Given the description of an element on the screen output the (x, y) to click on. 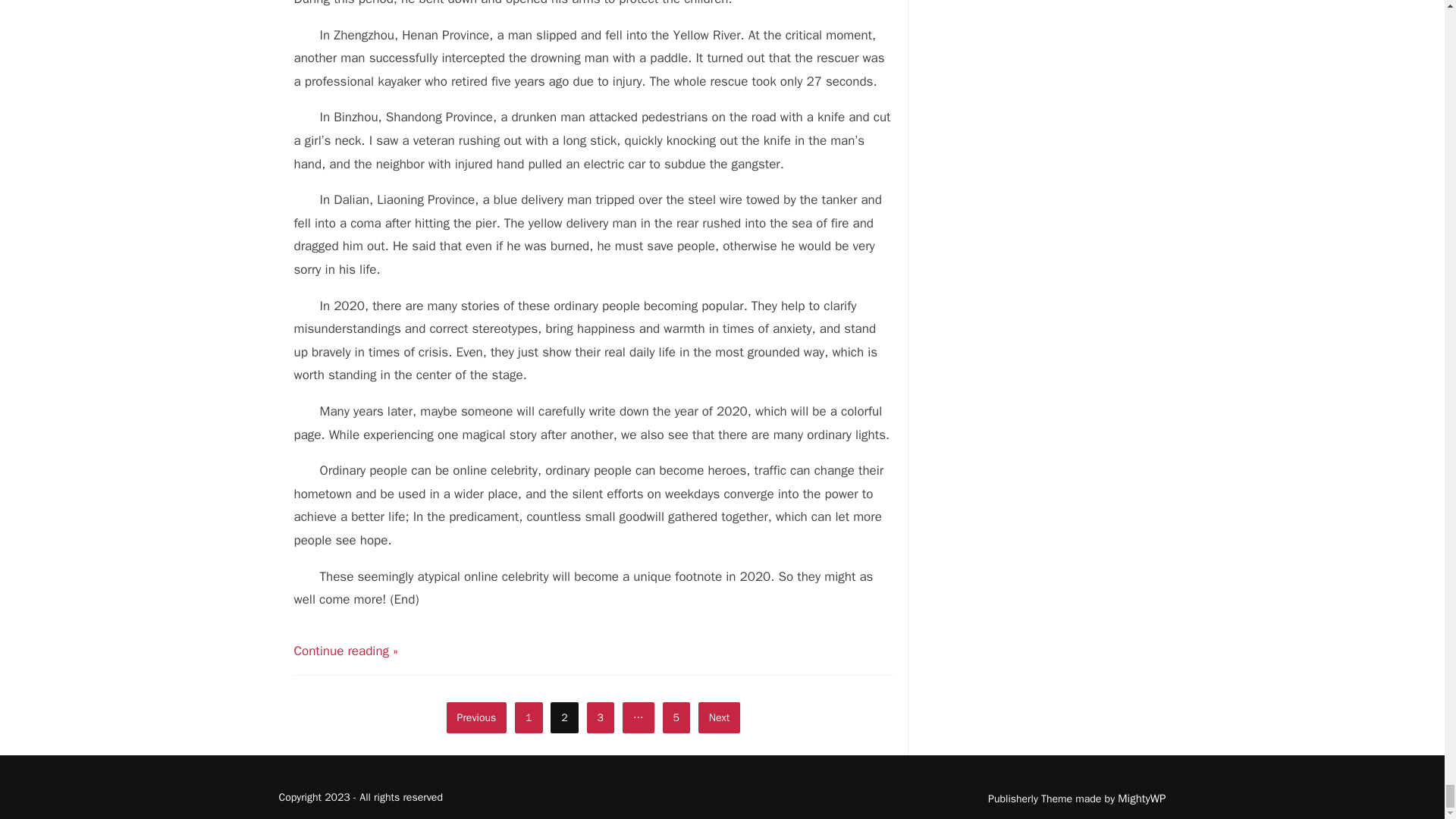
Previous (476, 717)
Next (718, 717)
